Given the description of an element on the screen output the (x, y) to click on. 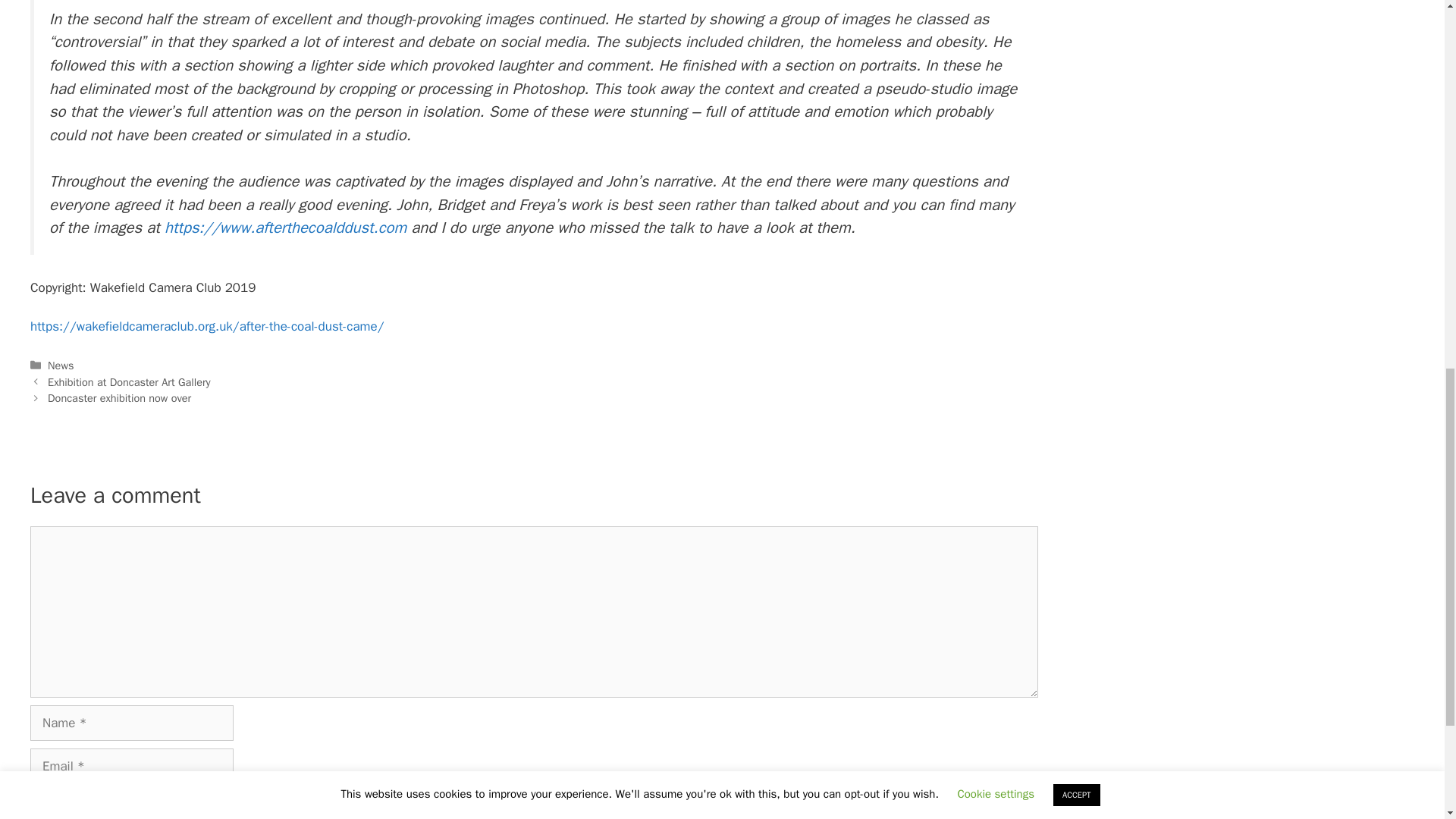
Doncaster exhibition now over (119, 397)
News (61, 365)
Exhibition at Doncaster Art Gallery (129, 382)
